Given the description of an element on the screen output the (x, y) to click on. 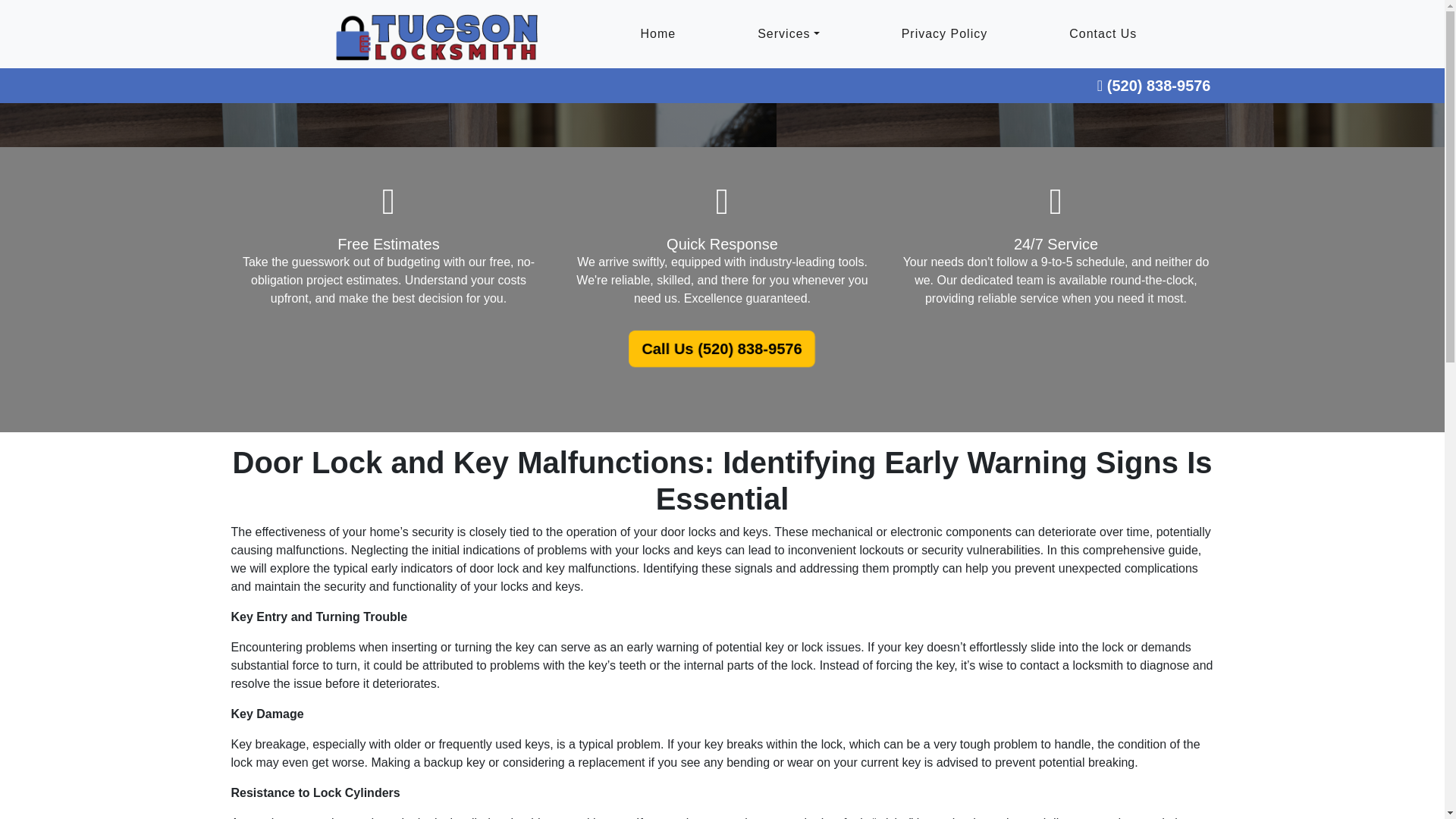
Privacy Policy (944, 34)
Home (657, 34)
Contact Us (1102, 34)
Services (787, 34)
